Given the description of an element on the screen output the (x, y) to click on. 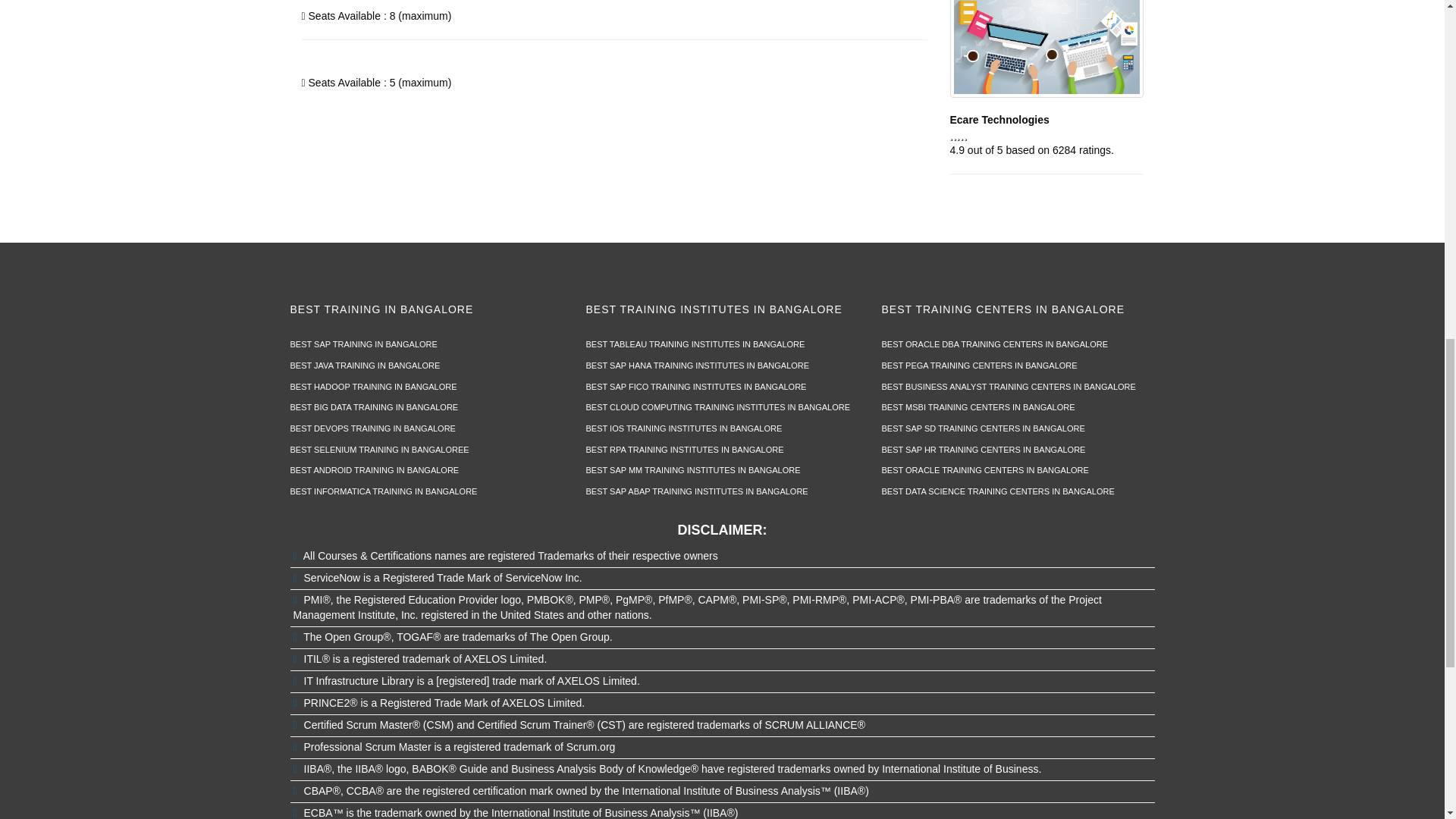
BEST DEVOPS TRAINING IN BANGALORE (371, 428)
BEST HADOOP TRAINING IN BANGALORE (373, 386)
BEST BIG DATA TRAINING IN BANGALORE (373, 406)
Data Warehousing Training  in Bangalore - Marathahalli (1045, 48)
BEST JAVA TRAINING IN BANGALORE (364, 365)
BEST SAP TRAINING IN BANGALORE (362, 343)
